Given the description of an element on the screen output the (x, y) to click on. 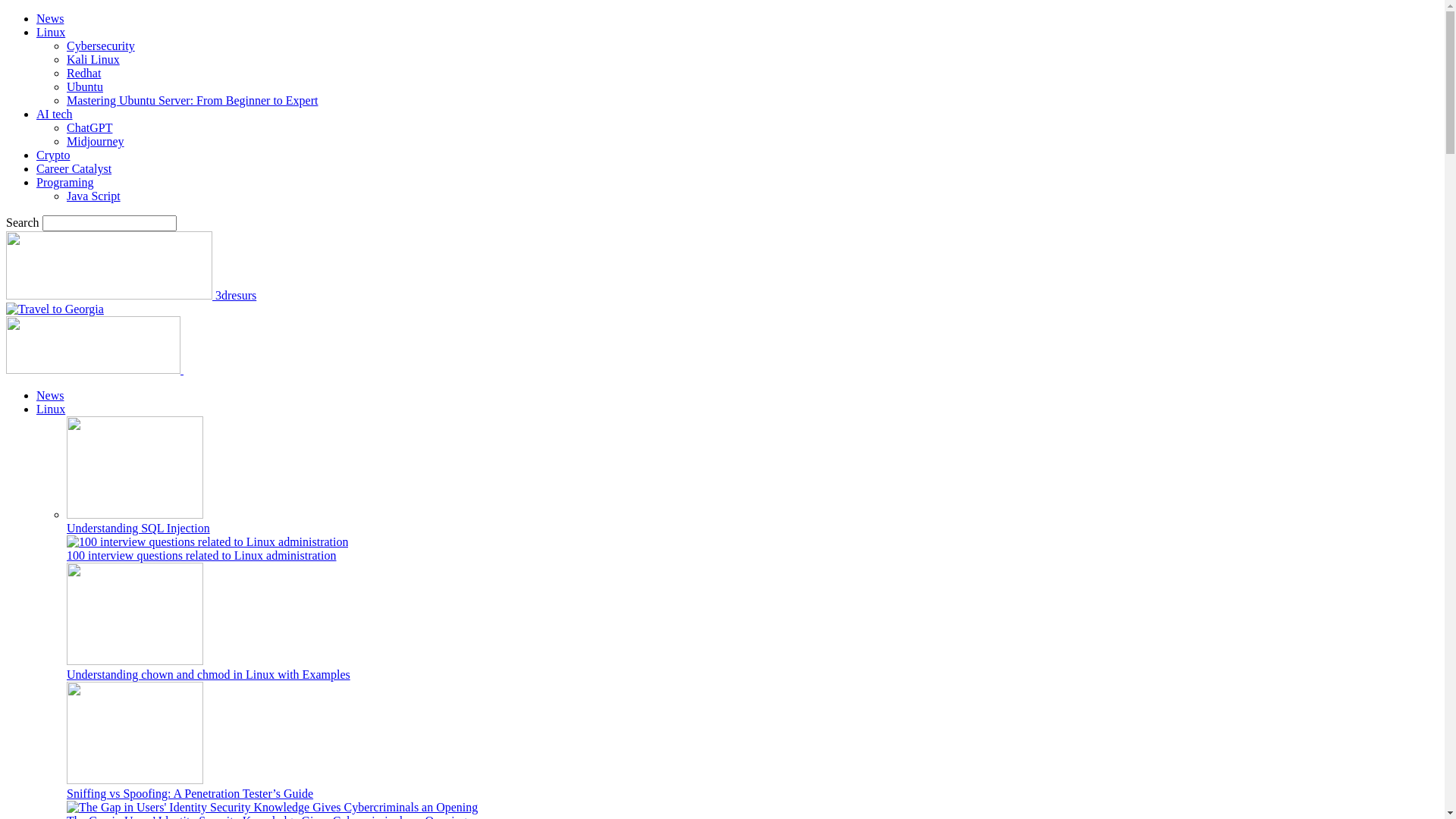
Understanding chown and chmod in Linux with Examples Element type: text (208, 674)
Crypto Element type: text (52, 154)
Ubuntu Element type: text (84, 86)
100 interview questions related to Linux administration Element type: hover (207, 541)
Midjourney Element type: text (95, 140)
Understanding chown and chmod in Linux with Examples Element type: hover (134, 613)
Linux Element type: text (50, 31)
100 interview questions related to Linux administration Element type: text (200, 555)
Understanding SQL Injection Element type: text (138, 527)
3dresurs Element type: text (131, 294)
Understanding chown and chmod in Linux with Examples Element type: hover (134, 660)
Linux Element type: text (50, 408)
News Element type: text (49, 18)
AI tech Element type: text (54, 113)
Career Catalyst Element type: text (73, 168)
ChatGPT Element type: text (89, 127)
Java Script Element type: text (93, 195)
Kali Linux Element type: text (92, 59)
Redhat Element type: text (83, 72)
News Element type: text (49, 395)
100 interview questions related to Linux administration Element type: hover (207, 542)
Programing Element type: text (65, 181)
Understanding SQL Injection Element type: hover (134, 514)
Understanding SQL Injection Element type: hover (134, 467)
Mastering Ubuntu Server: From Beginner to Expert Element type: text (192, 100)
Cybersecurity Element type: text (100, 45)
